Given the description of an element on the screen output the (x, y) to click on. 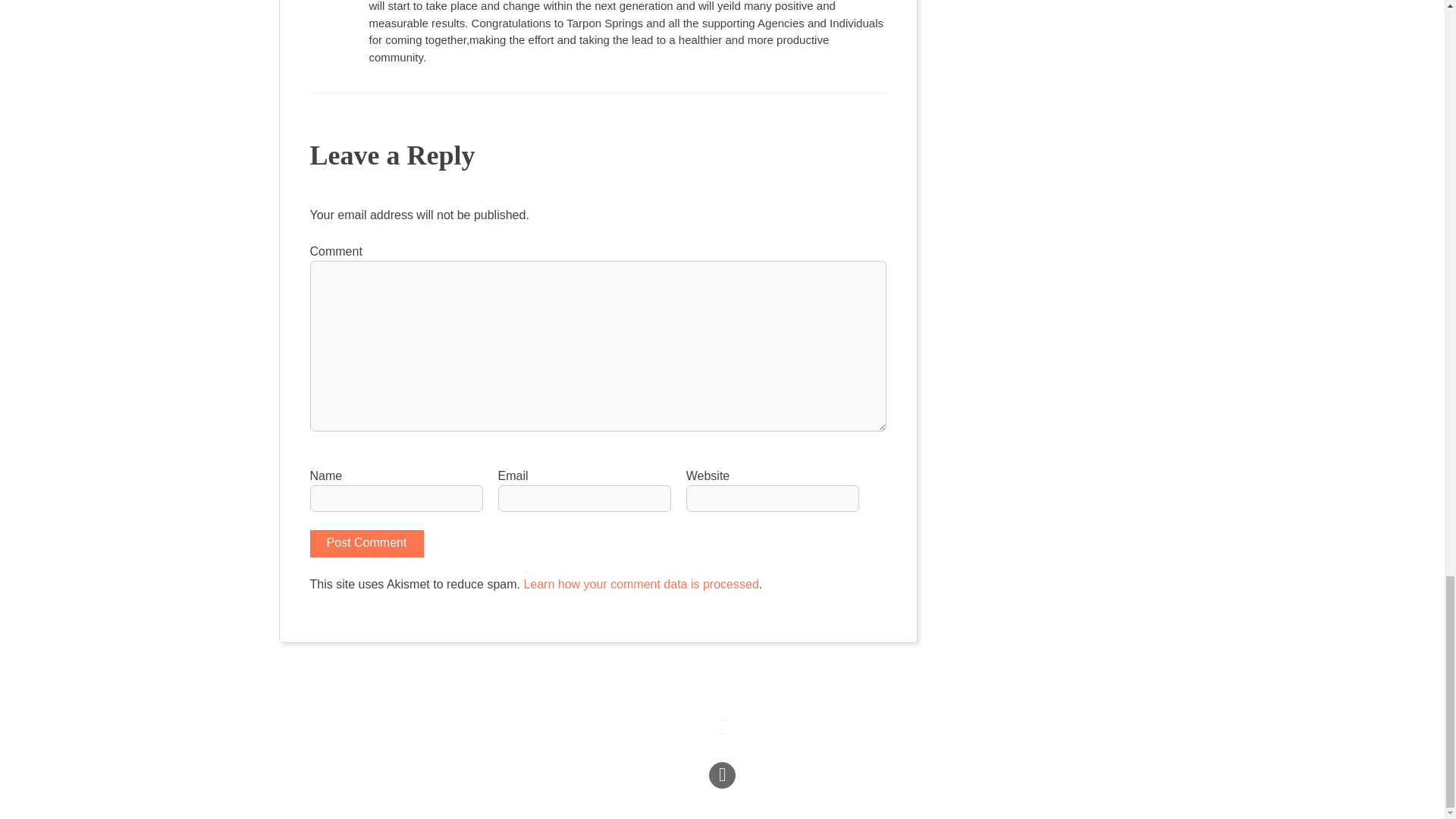
Post Comment (365, 543)
